Given the description of an element on the screen output the (x, y) to click on. 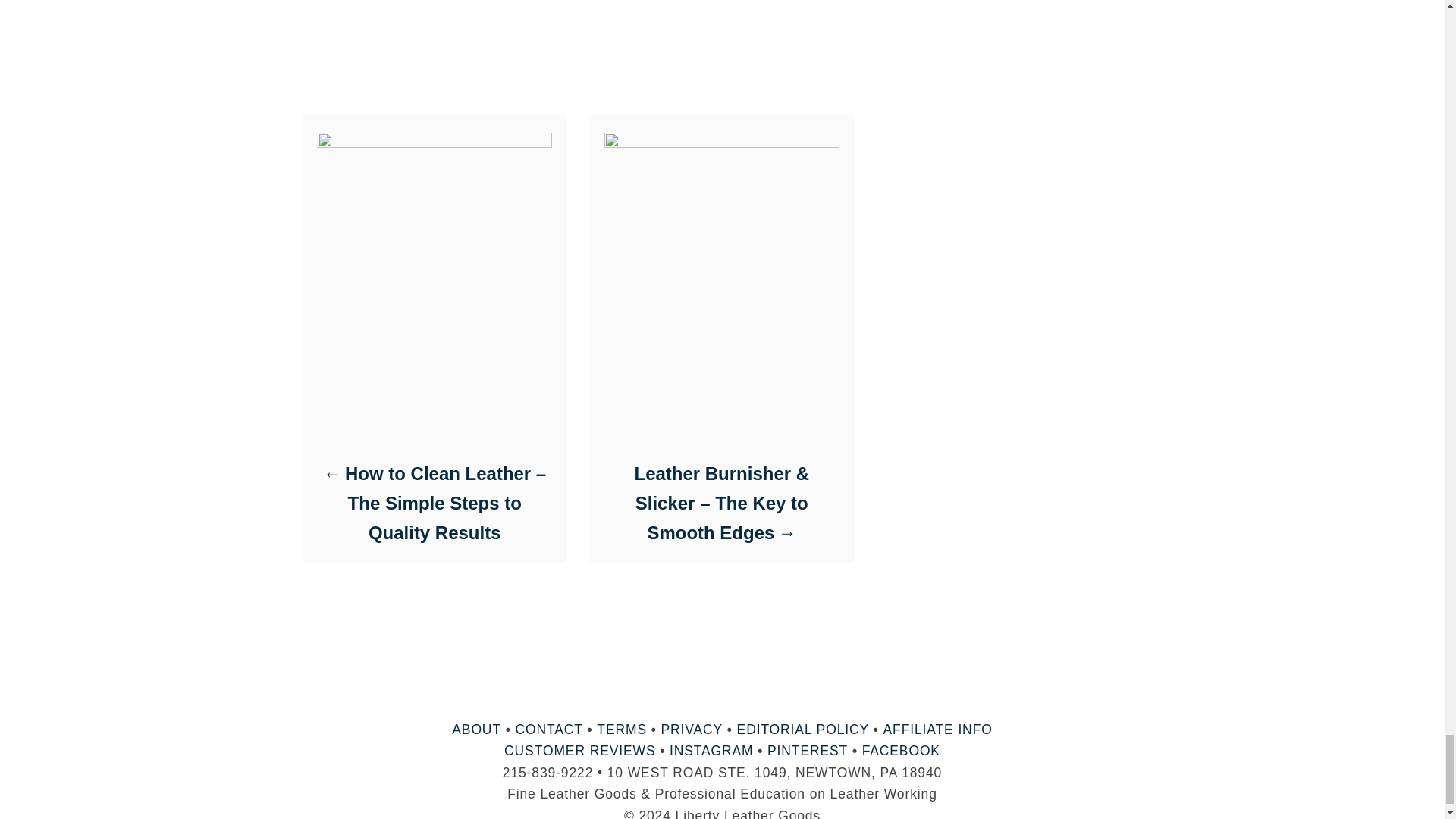
EDITORIAL POLICY (802, 729)
ABOUT (475, 729)
INSTAGRAM (711, 750)
FACEBOOK (900, 750)
PRIVACY (691, 729)
AFFILIATE INFO (937, 729)
PINTEREST (807, 750)
TERMS (621, 729)
CUSTOMER REVIEWS (579, 750)
CONTACT (548, 729)
